Given the description of an element on the screen output the (x, y) to click on. 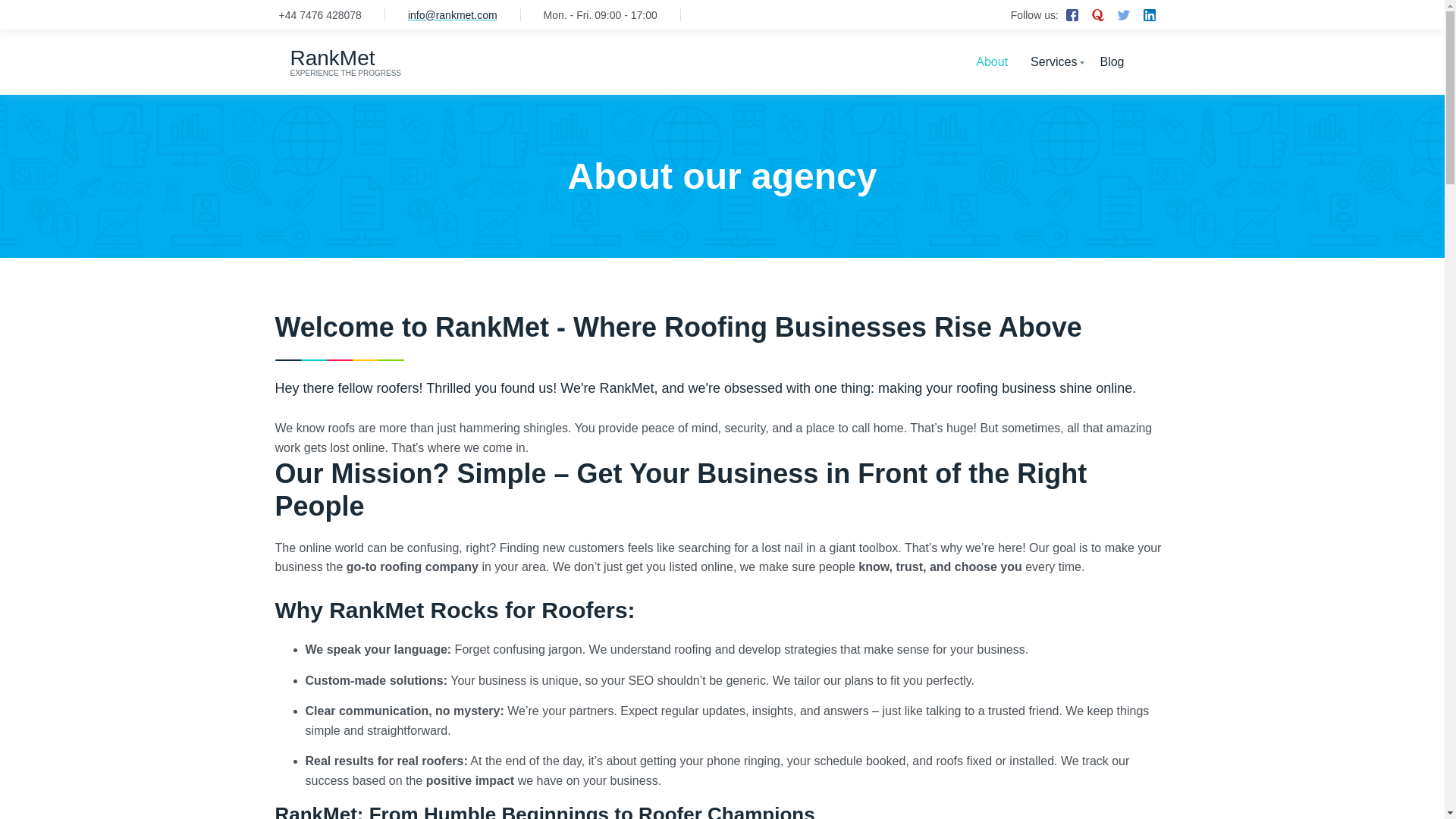
About (722, 62)
Blog (991, 61)
Services (1111, 61)
